Given the description of an element on the screen output the (x, y) to click on. 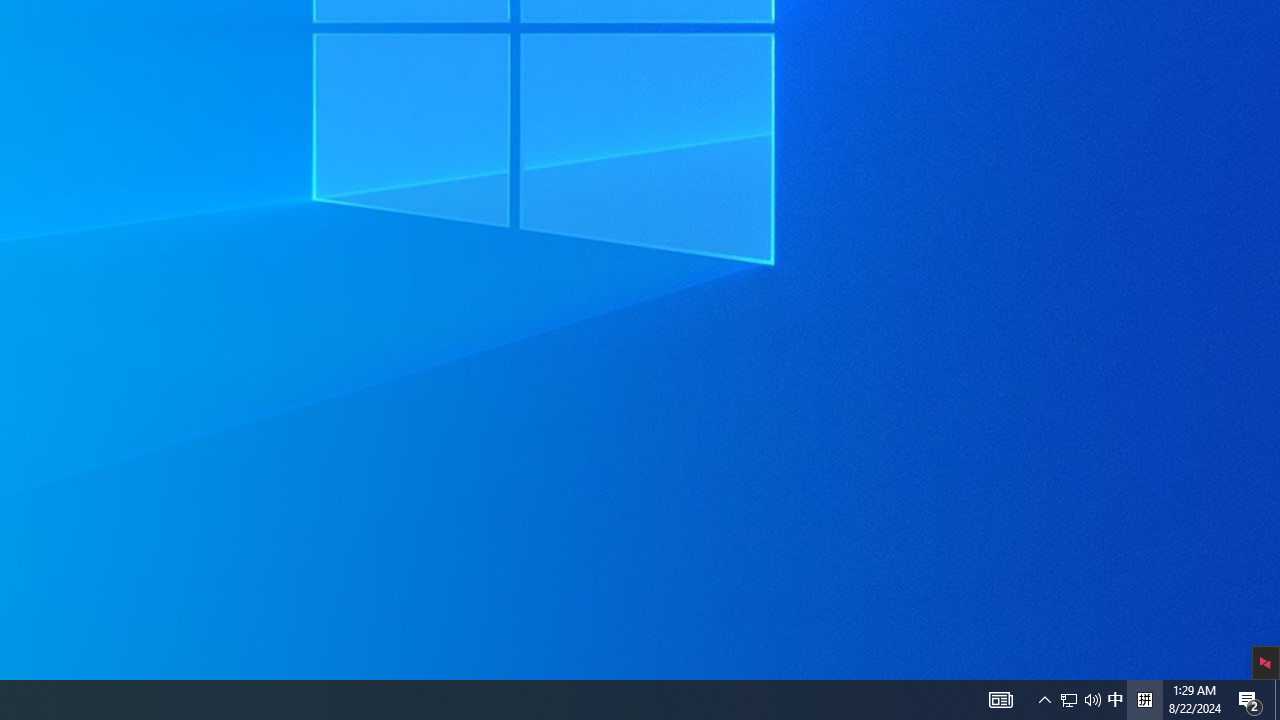
AutomationID: 4105 (1115, 699)
Notification Chevron (1069, 699)
Show desktop (1000, 699)
Tray Input Indicator - Chinese (Simplified, China) (1044, 699)
User Promoted Notification Area (1277, 699)
Action Center, 2 new notifications (1144, 699)
Q2790: 100% (1080, 699)
